Given the description of an element on the screen output the (x, y) to click on. 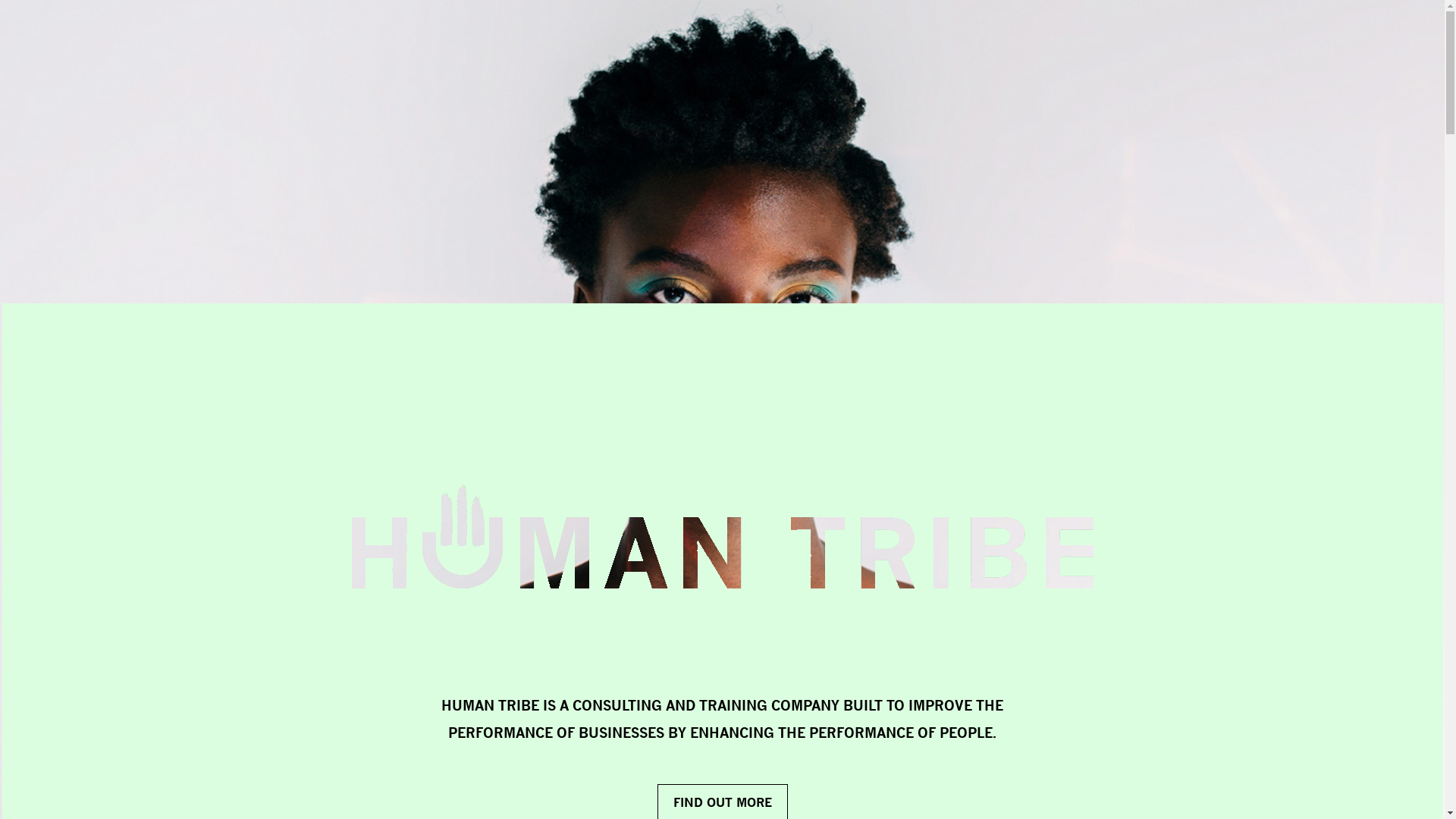
Skip to main content Element type: text (0, 0)
